Given the description of an element on the screen output the (x, y) to click on. 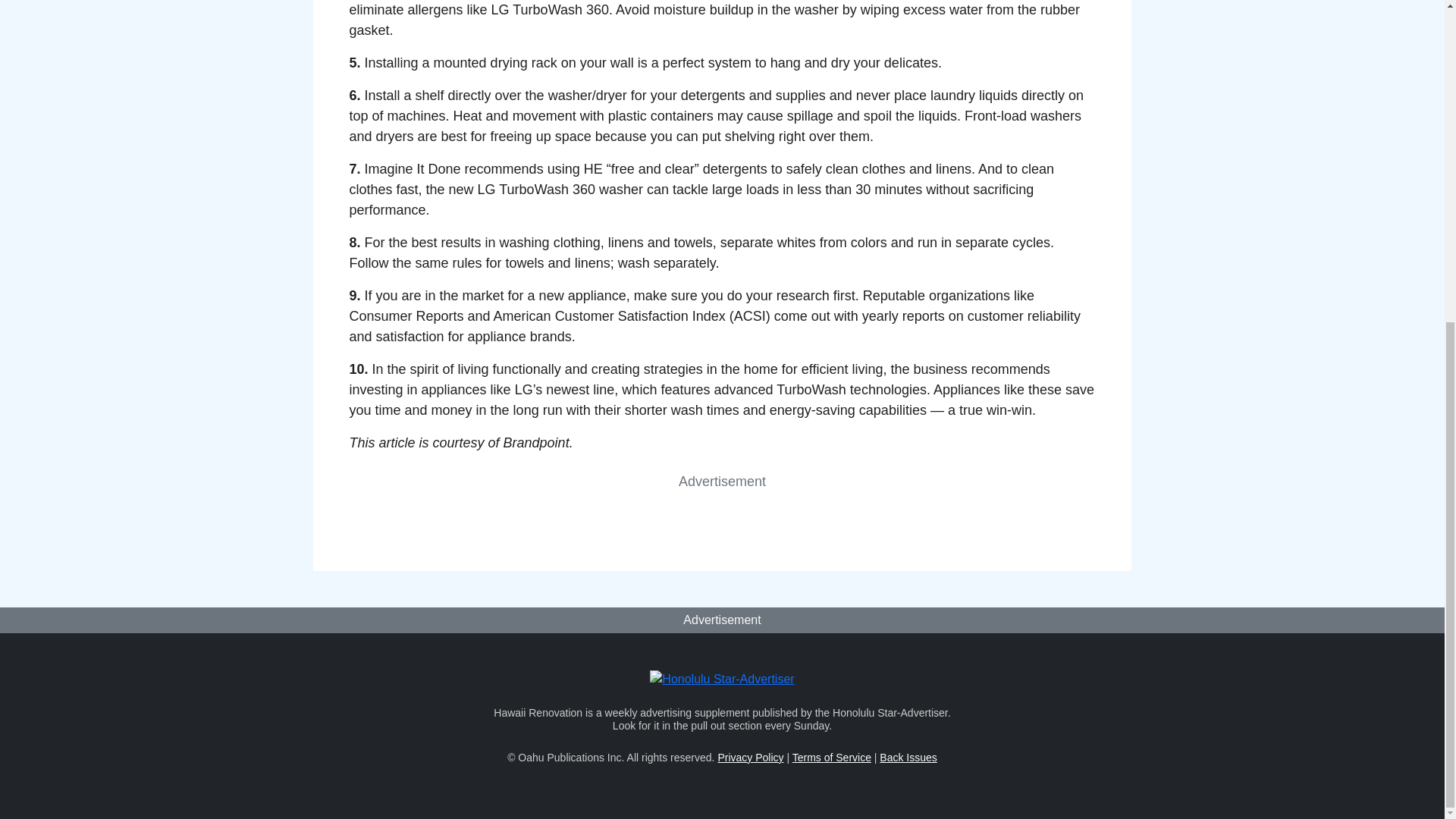
Terms of Service (831, 757)
Back Issues (907, 757)
Privacy Policy (750, 757)
